Given the description of an element on the screen output the (x, y) to click on. 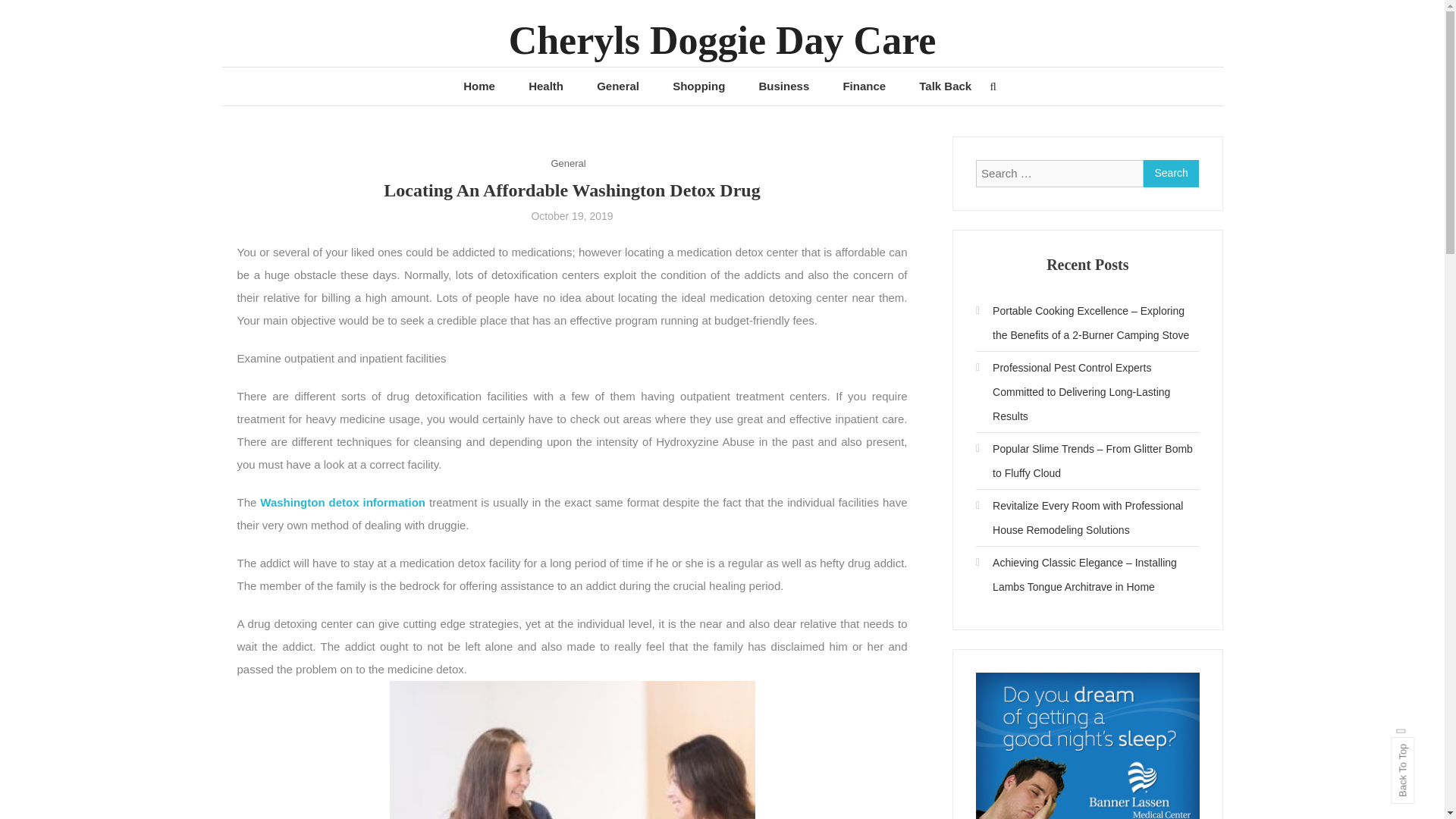
Home (479, 86)
Search (1170, 173)
Search (1170, 173)
Shopping (698, 86)
Talk Back (945, 86)
General (567, 162)
Finance (864, 86)
Search (1170, 173)
Cheryls Doggie Day Care (722, 40)
October 19, 2019 (571, 215)
Health (545, 86)
Search (768, 432)
Washington detox information (342, 502)
